Given the description of an element on the screen output the (x, y) to click on. 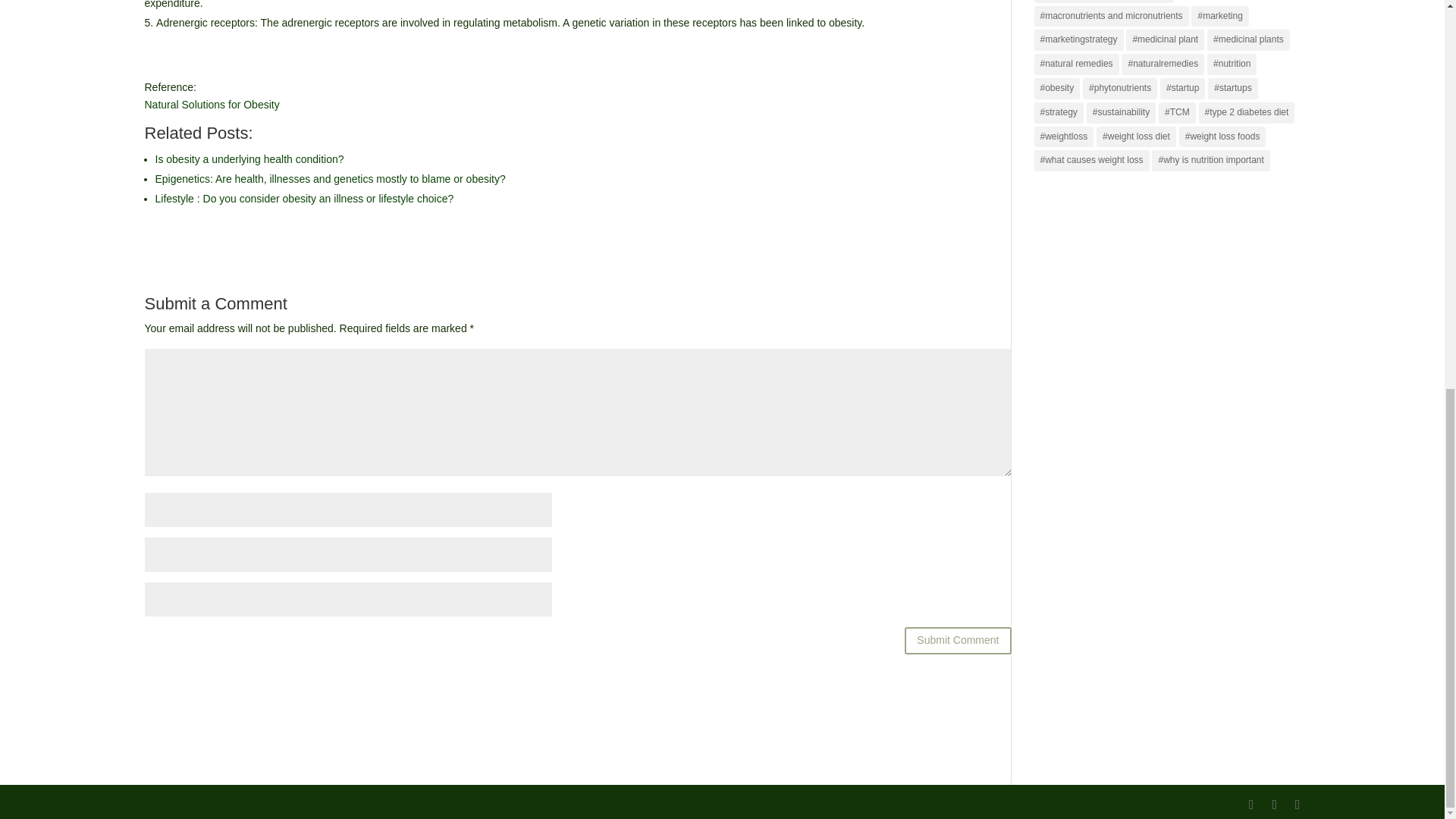
Natural Solutions for Obesity (211, 104)
Is obesity a underlying health condition? (248, 159)
Is obesity a underlying health condition? (248, 159)
Submit Comment (957, 640)
